Given the description of an element on the screen output the (x, y) to click on. 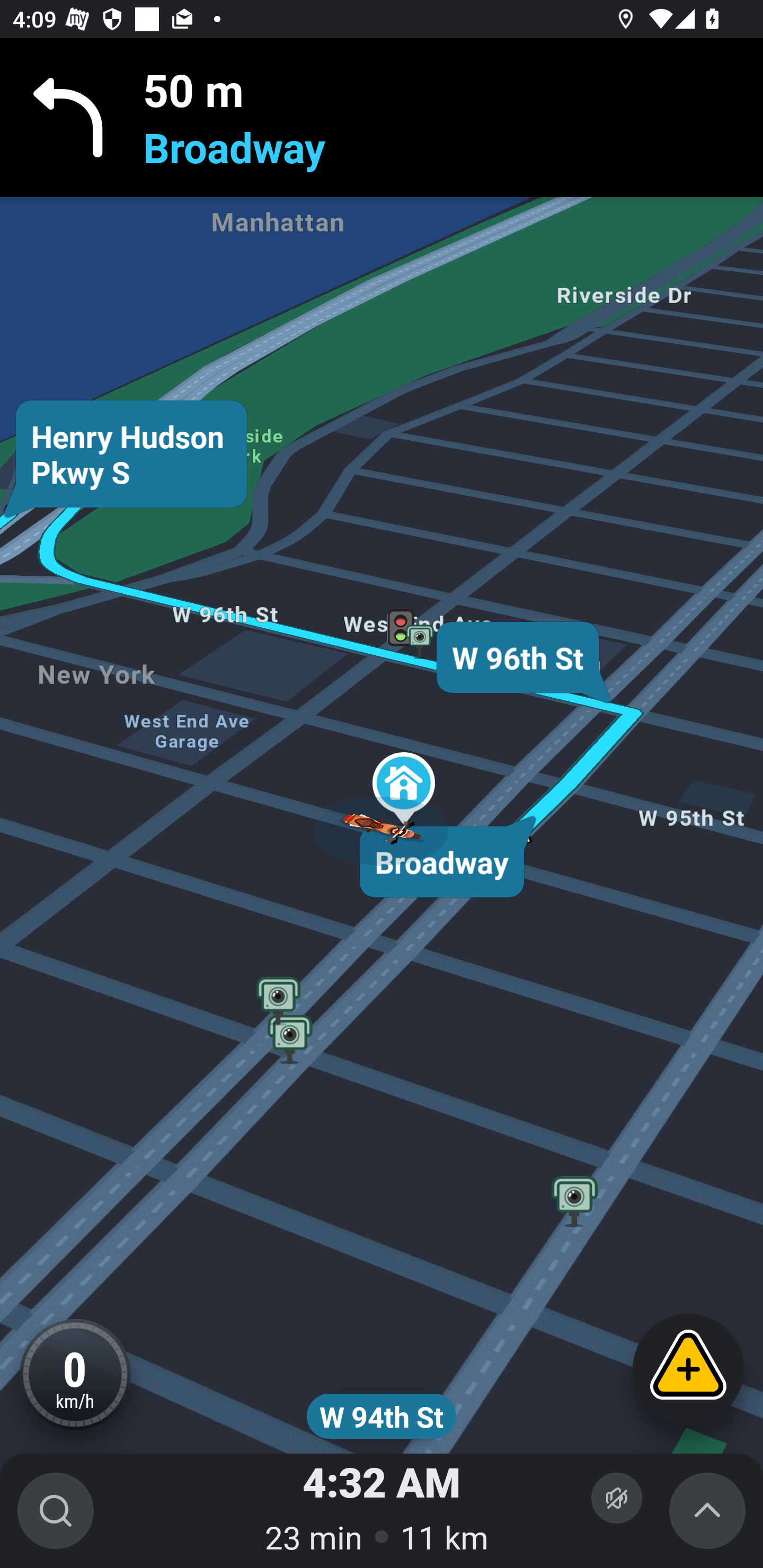
50 m Broadway (381, 117)
4:32 AM 23 min 11 km (381, 1510)
